Given the description of an element on the screen output the (x, y) to click on. 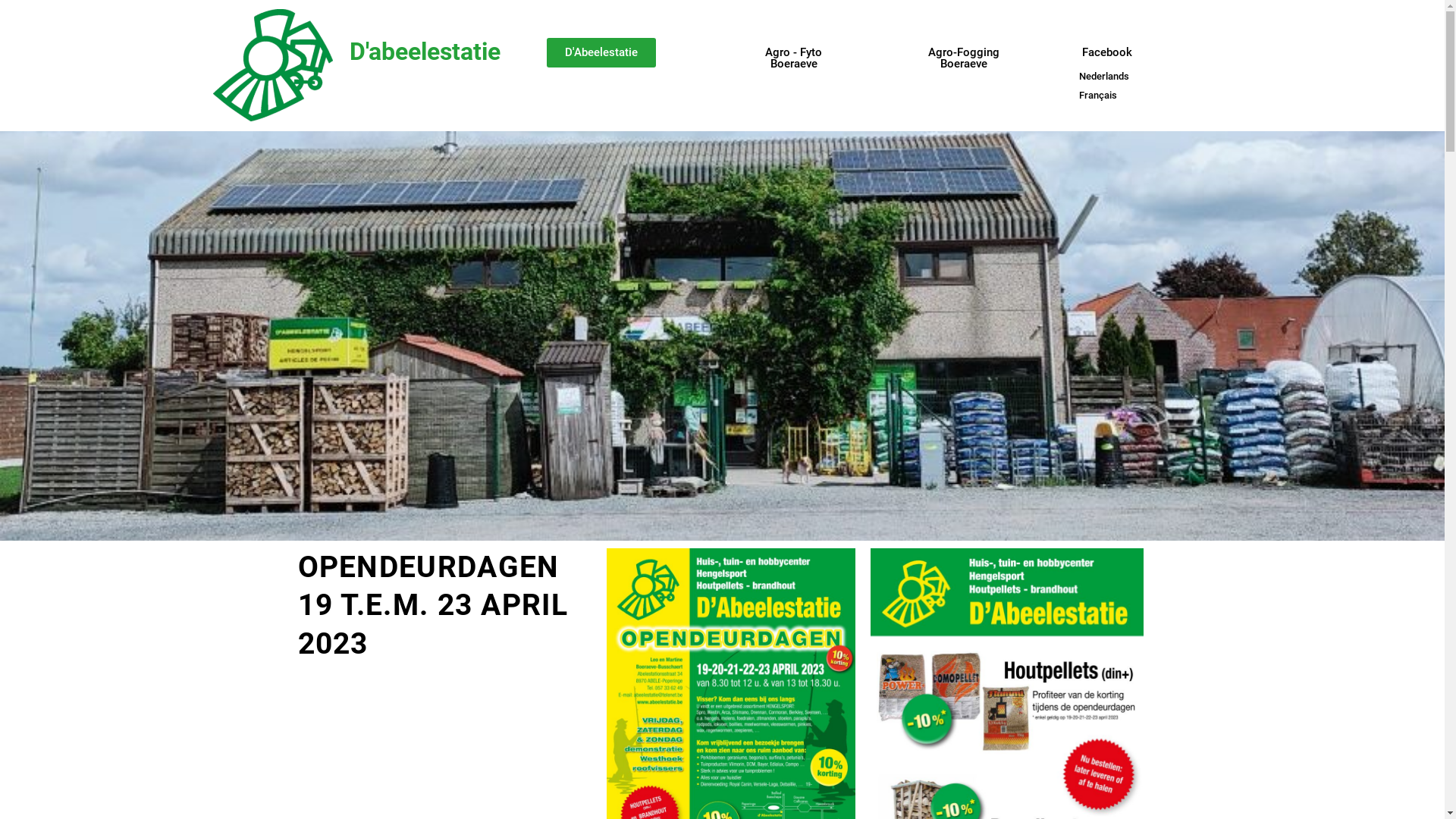
Facebook Element type: text (1106, 52)
Nederlands Element type: text (1103, 75)
Agro - Fyto Boeraeve Element type: text (792, 57)
Agro-Fogging Boeraeve Element type: text (963, 57)
D'Abeelestatie Element type: text (600, 52)
